Given the description of an element on the screen output the (x, y) to click on. 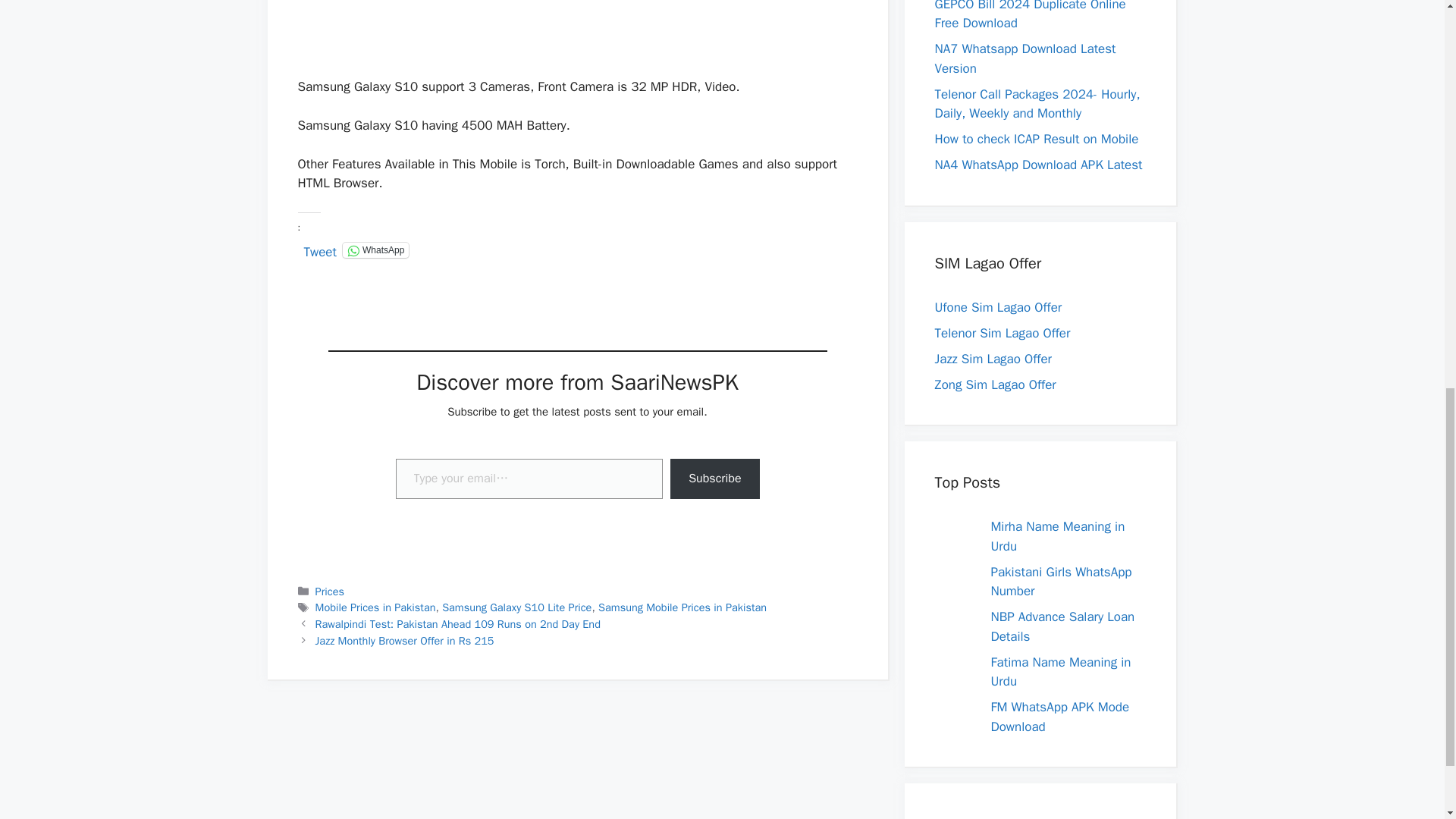
Telenor Sim Lagao Offer (1002, 333)
Tweet (319, 249)
Click to share on WhatsApp (375, 249)
Rawalpindi Test: Pakistan Ahead 109 Runs on 2nd Day End (457, 623)
Zong Sim Lagao Offer (994, 384)
Samsung Galaxy S10 Lite Price (516, 607)
GEPCO Bill 2024 Duplicate Online Free Download (1029, 15)
Jazz Monthly Browser Offer in Rs 215 (405, 640)
Subscribe (713, 478)
Jazz Sim Lagao Offer (992, 358)
Ufone Sim Lagao Offer (997, 307)
Samsung Mobile Prices in Pakistan (682, 607)
Please fill in this field. (529, 478)
Mobile Prices in Pakistan (375, 607)
